Given the description of an element on the screen output the (x, y) to click on. 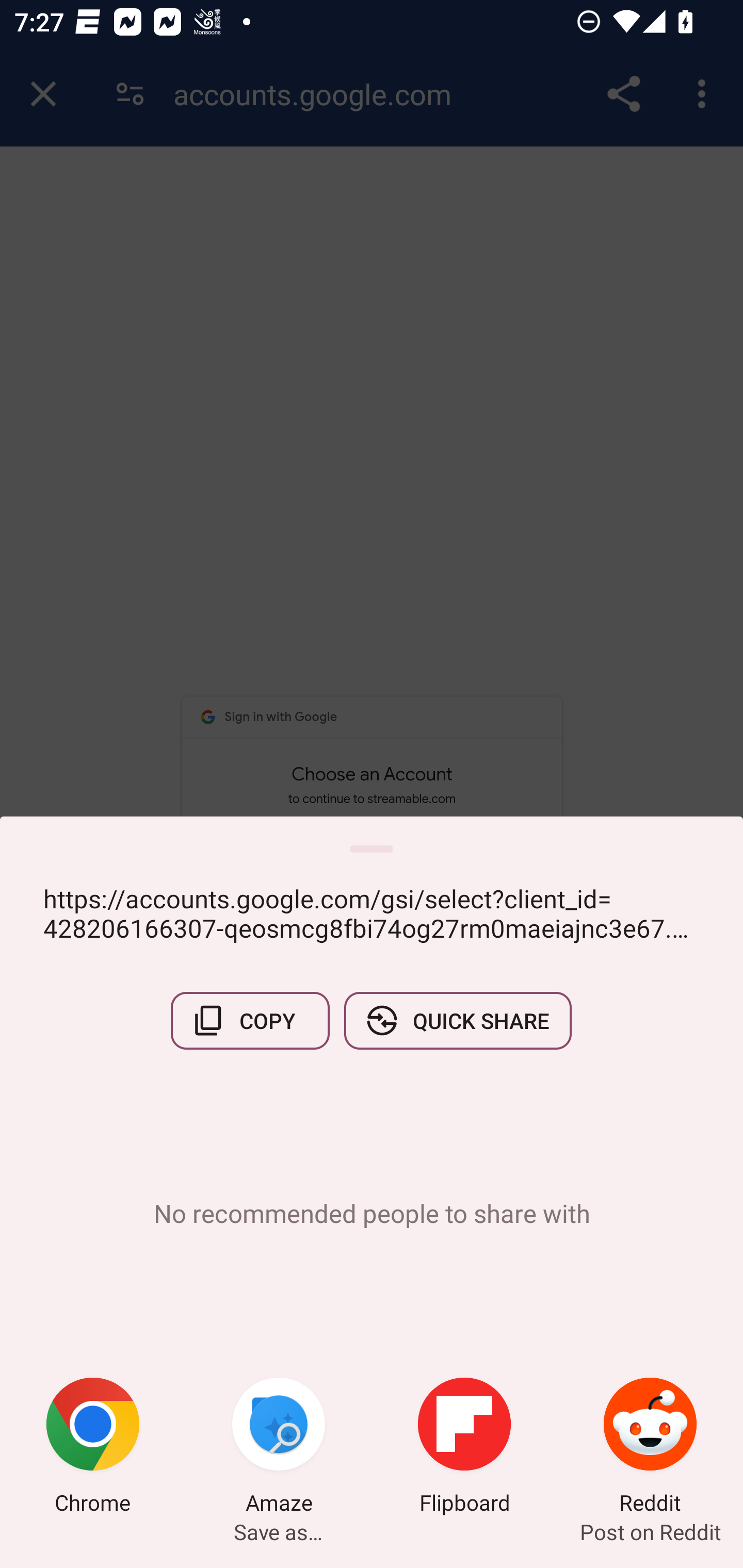
COPY (249, 1020)
QUICK SHARE (457, 1020)
Chrome (92, 1448)
Amaze Save as… (278, 1448)
Flipboard (464, 1448)
Reddit Post on Reddit (650, 1448)
